Given the description of an element on the screen output the (x, y) to click on. 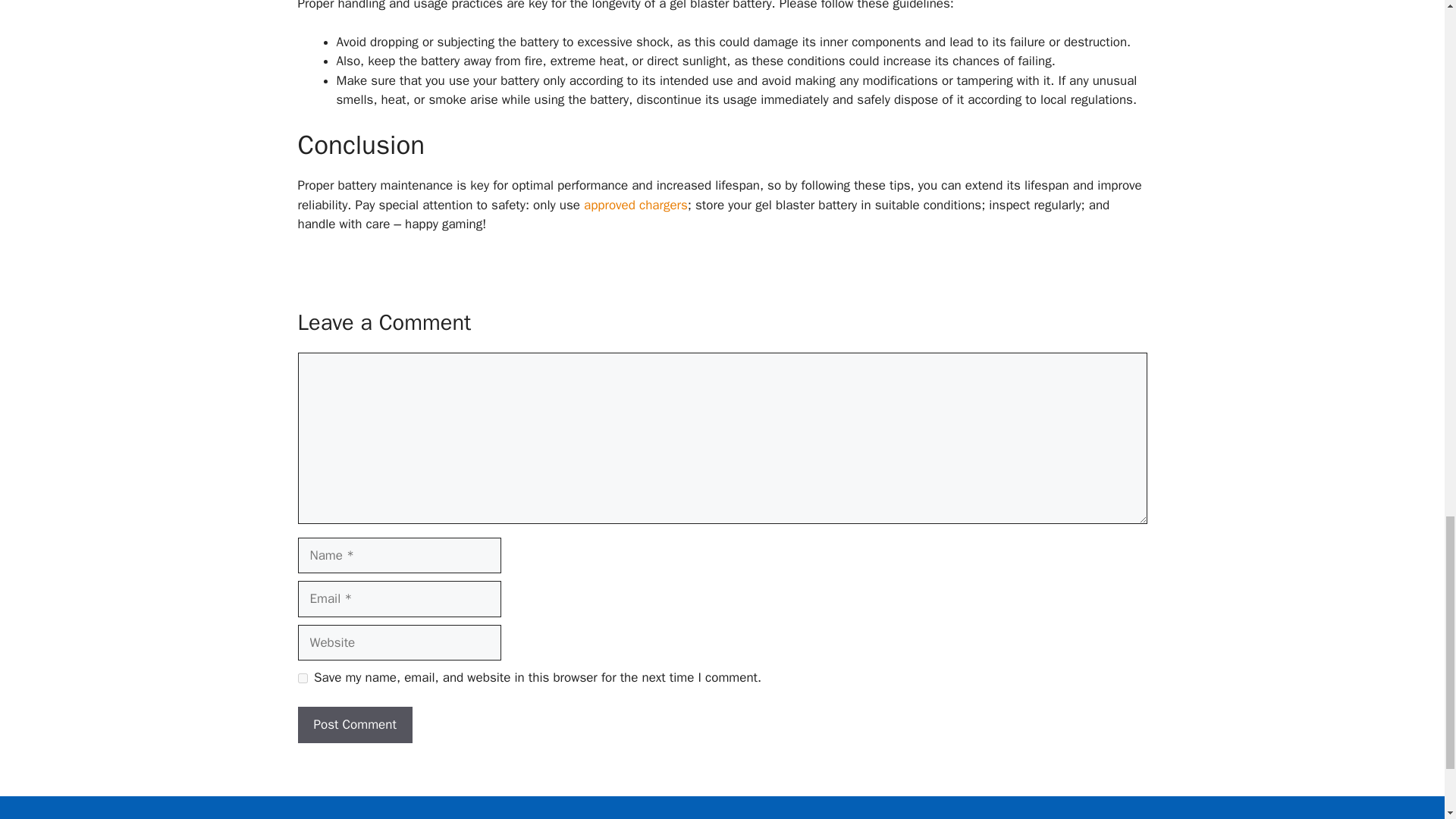
Post Comment (354, 724)
Post Comment (354, 724)
approved chargers (635, 204)
yes (302, 678)
